Given the description of an element on the screen output the (x, y) to click on. 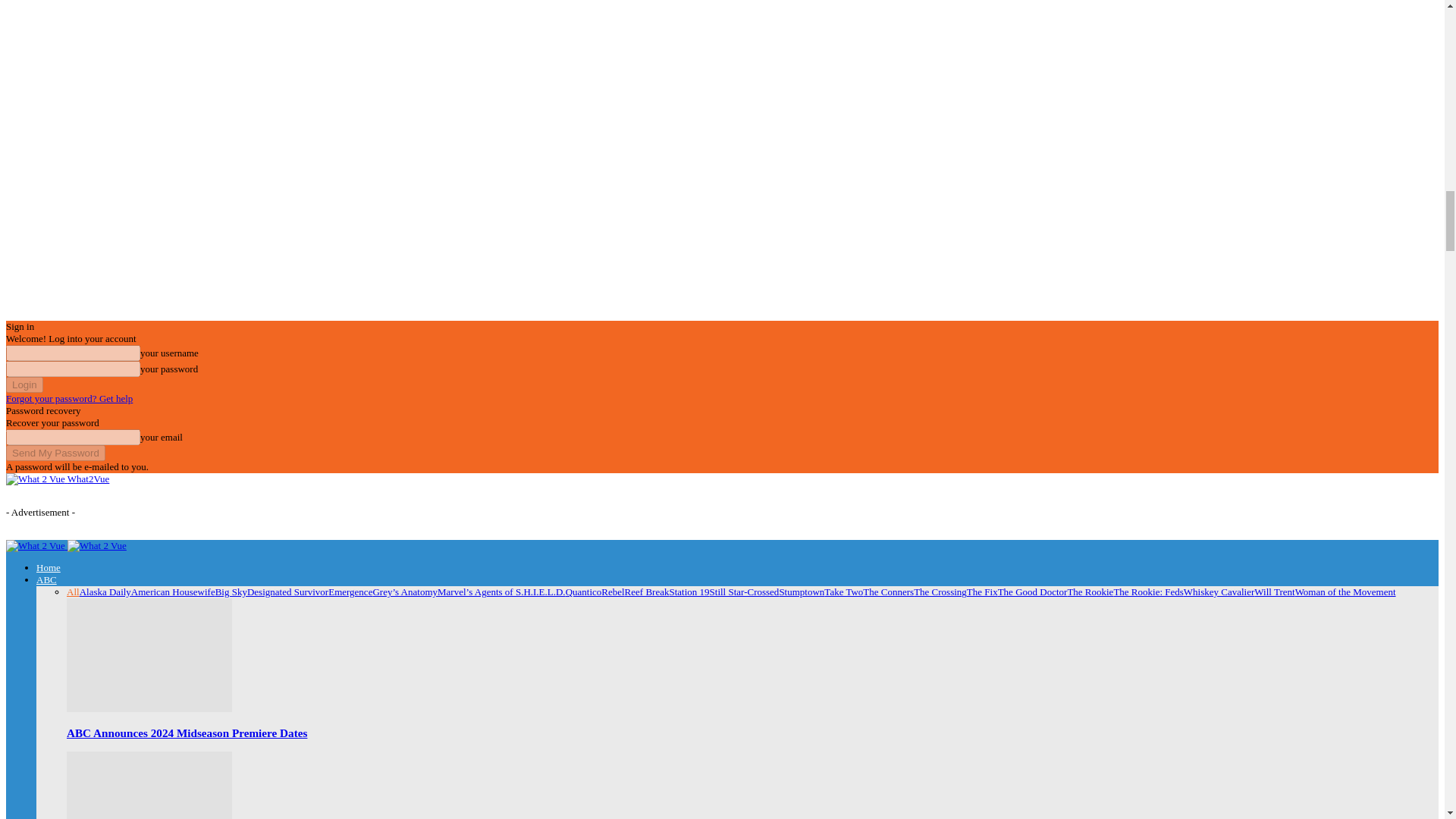
What 2 Vue (96, 545)
ABC Announces 2024 Midseason Premiere Dates (186, 732)
Login (24, 384)
What 2 Vue (35, 479)
ABC Announces 2024 Midseason Premiere Dates (148, 708)
Send My Password (54, 453)
ABC Announces 2024 Midseason Premiere Dates (148, 654)
What 2 Vue (35, 545)
